Given the description of an element on the screen output the (x, y) to click on. 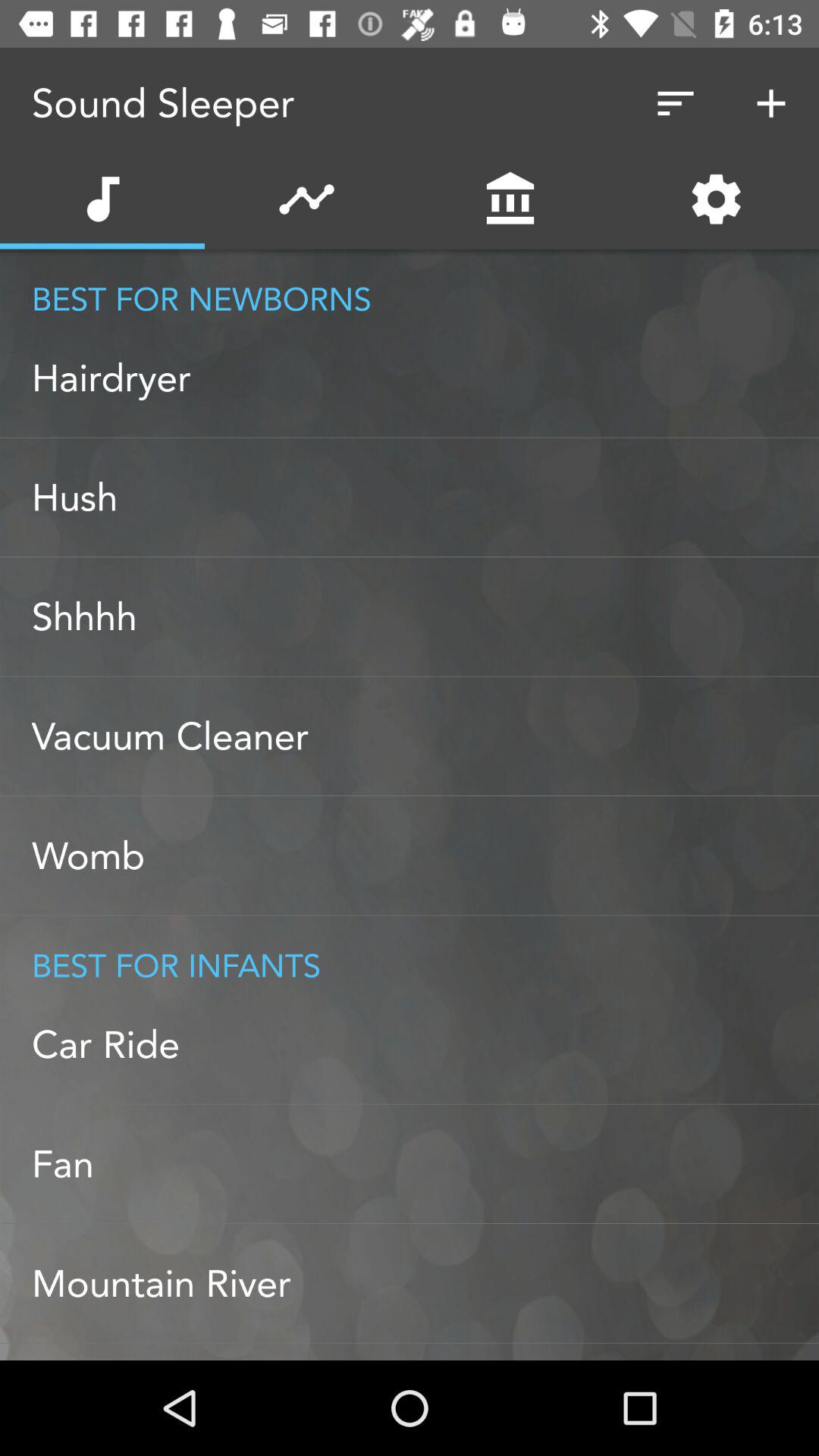
swipe until the hush (425, 497)
